Given the description of an element on the screen output the (x, y) to click on. 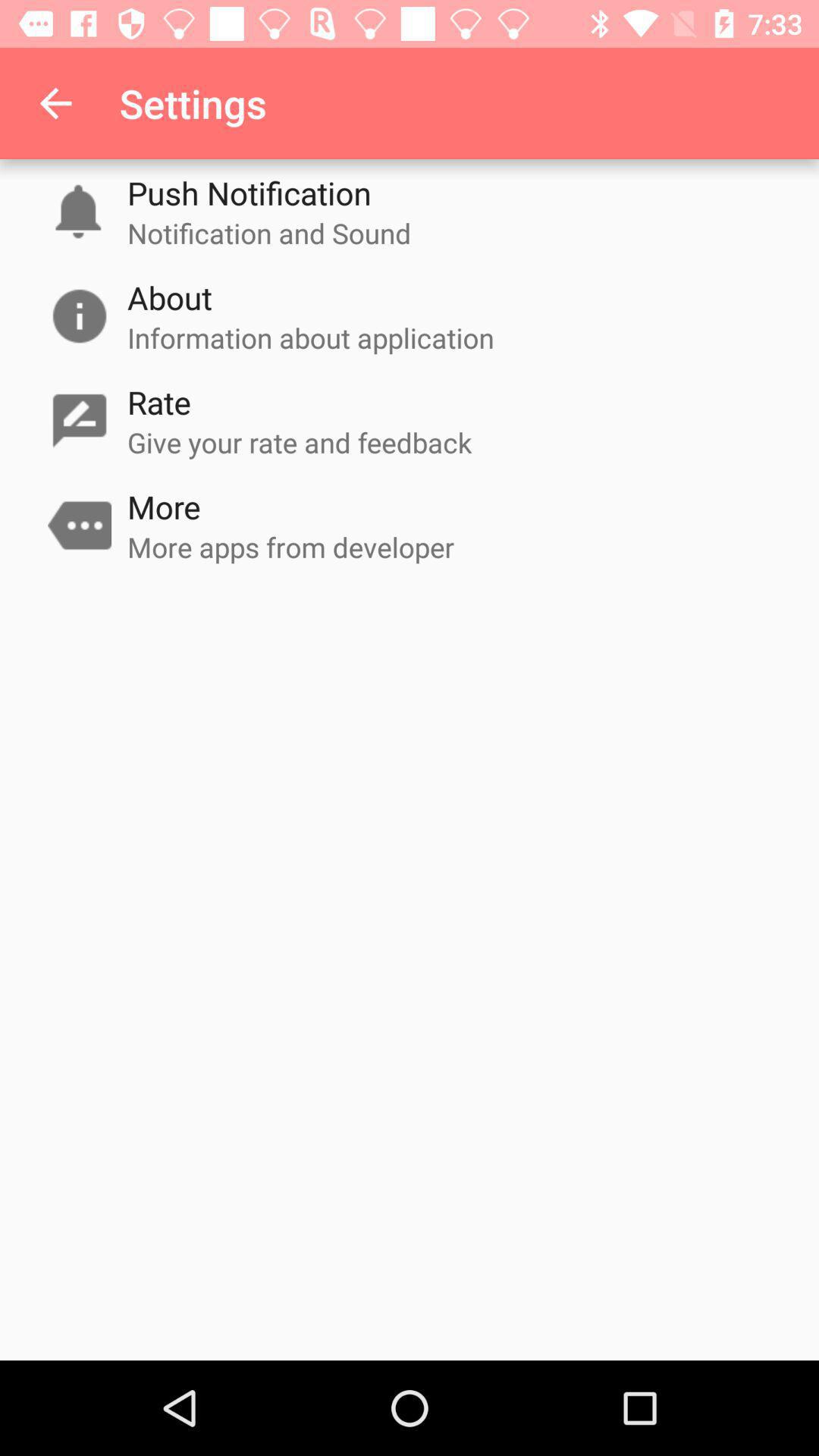
select icon at the center (290, 546)
